Given the description of an element on the screen output the (x, y) to click on. 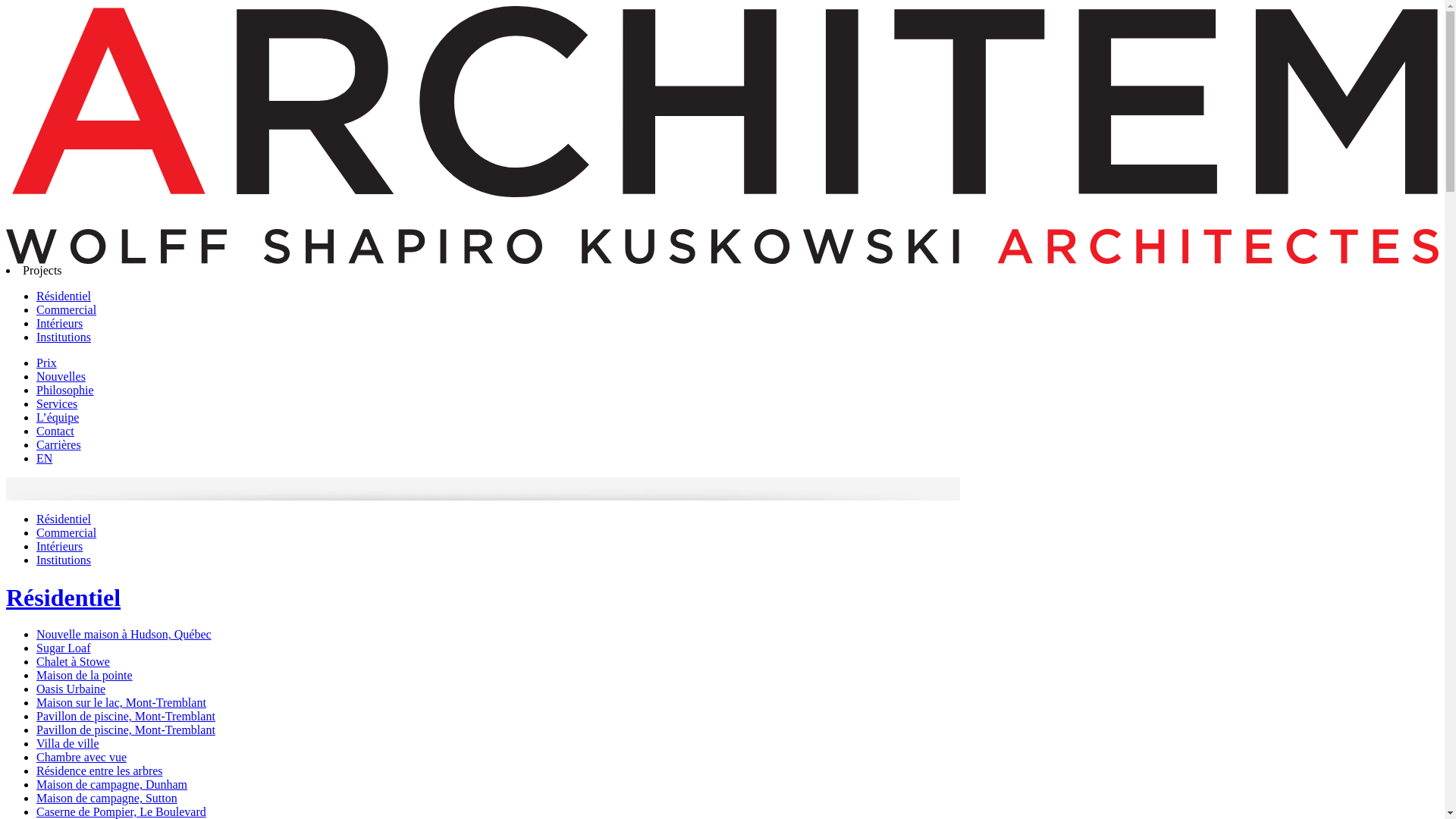
Commercial Element type: text (66, 532)
Maison de campagne, Sutton Element type: text (106, 797)
Chambre avec vue Element type: text (81, 756)
Nouvelles Element type: text (60, 376)
Institutions Element type: text (63, 559)
Prix Element type: text (46, 362)
Oasis Urbaine Element type: text (70, 688)
Commercial Element type: text (66, 309)
Caserne de Pompier, Le Boulevard Element type: text (121, 811)
Philosophie Element type: text (65, 389)
Maison sur le lac, Mont-Tremblant Element type: text (121, 702)
EN Element type: text (44, 457)
Institutions Element type: text (63, 336)
Pavillon de piscine, Mont-Tremblant Element type: text (125, 729)
Maison de campagne, Dunham Element type: text (111, 784)
Sugar Loaf Element type: text (63, 647)
Services Element type: text (56, 403)
Villa de ville Element type: text (67, 743)
Maison de la pointe Element type: text (84, 674)
Contact Element type: text (55, 430)
Pavillon de piscine, Mont-Tremblant Element type: text (125, 715)
